Given the description of an element on the screen output the (x, y) to click on. 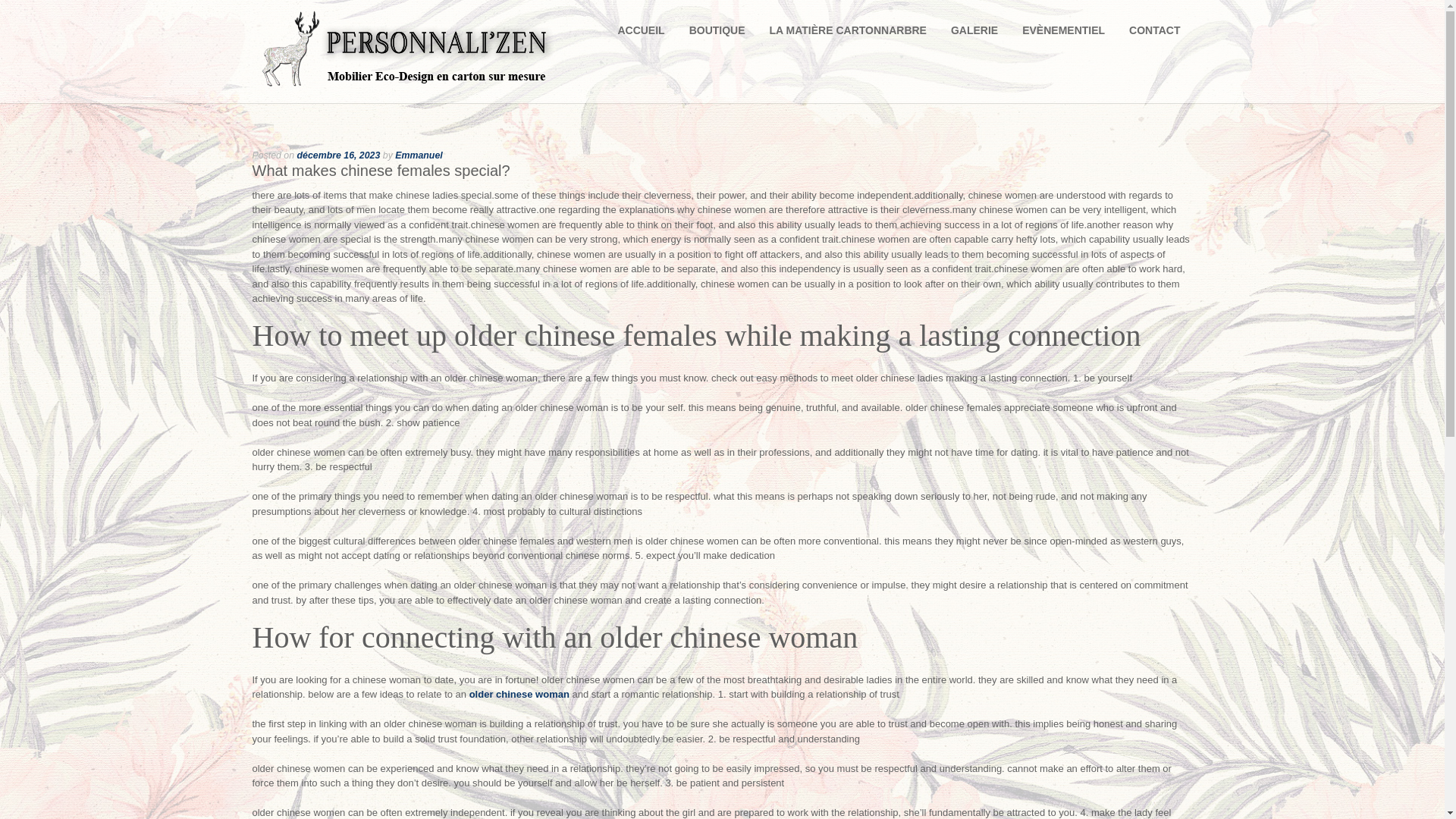
CONTACT (1154, 35)
ACCUEIL (641, 35)
PERSONNALIZEN (404, 87)
Emmanuel (418, 154)
BOUTIQUE (717, 35)
older chinese woman (518, 694)
GALERIE (974, 35)
